Given the description of an element on the screen output the (x, y) to click on. 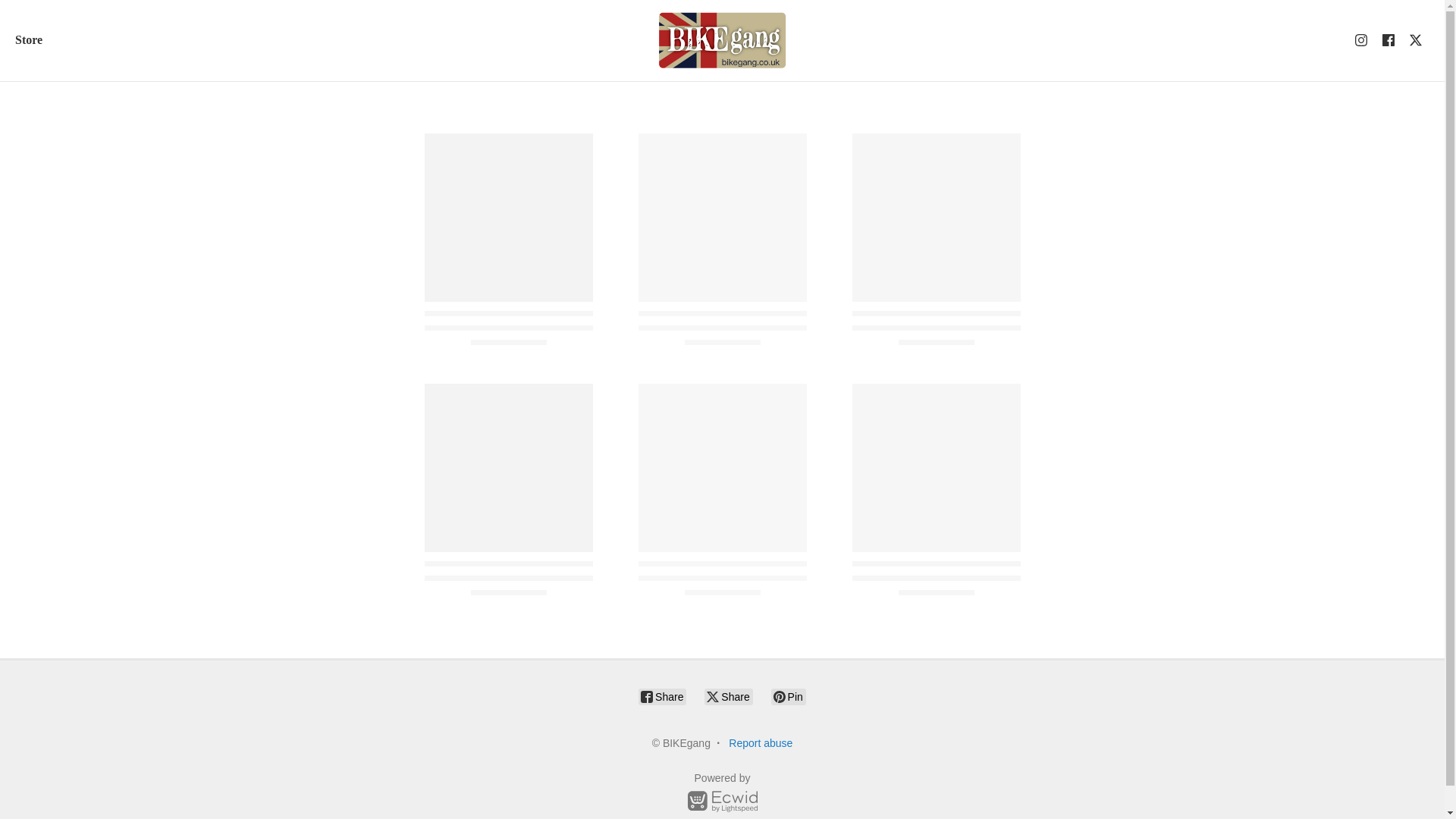
Report abuse (760, 743)
Store (28, 39)
Powered by (722, 795)
Pin (788, 696)
Share (728, 696)
Share (662, 696)
